Given the description of an element on the screen output the (x, y) to click on. 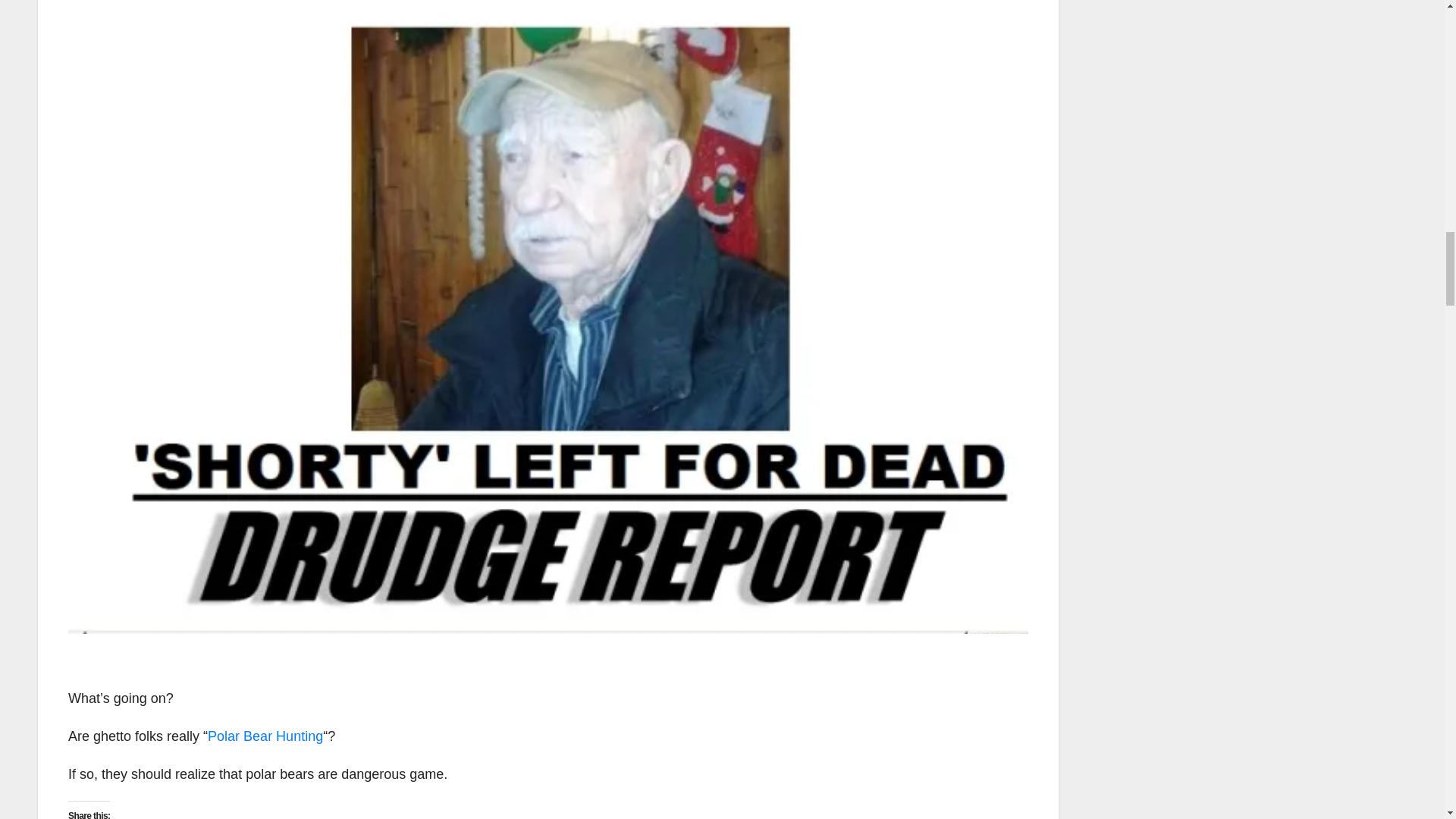
Polar Bear Hunting (265, 735)
